Given the description of an element on the screen output the (x, y) to click on. 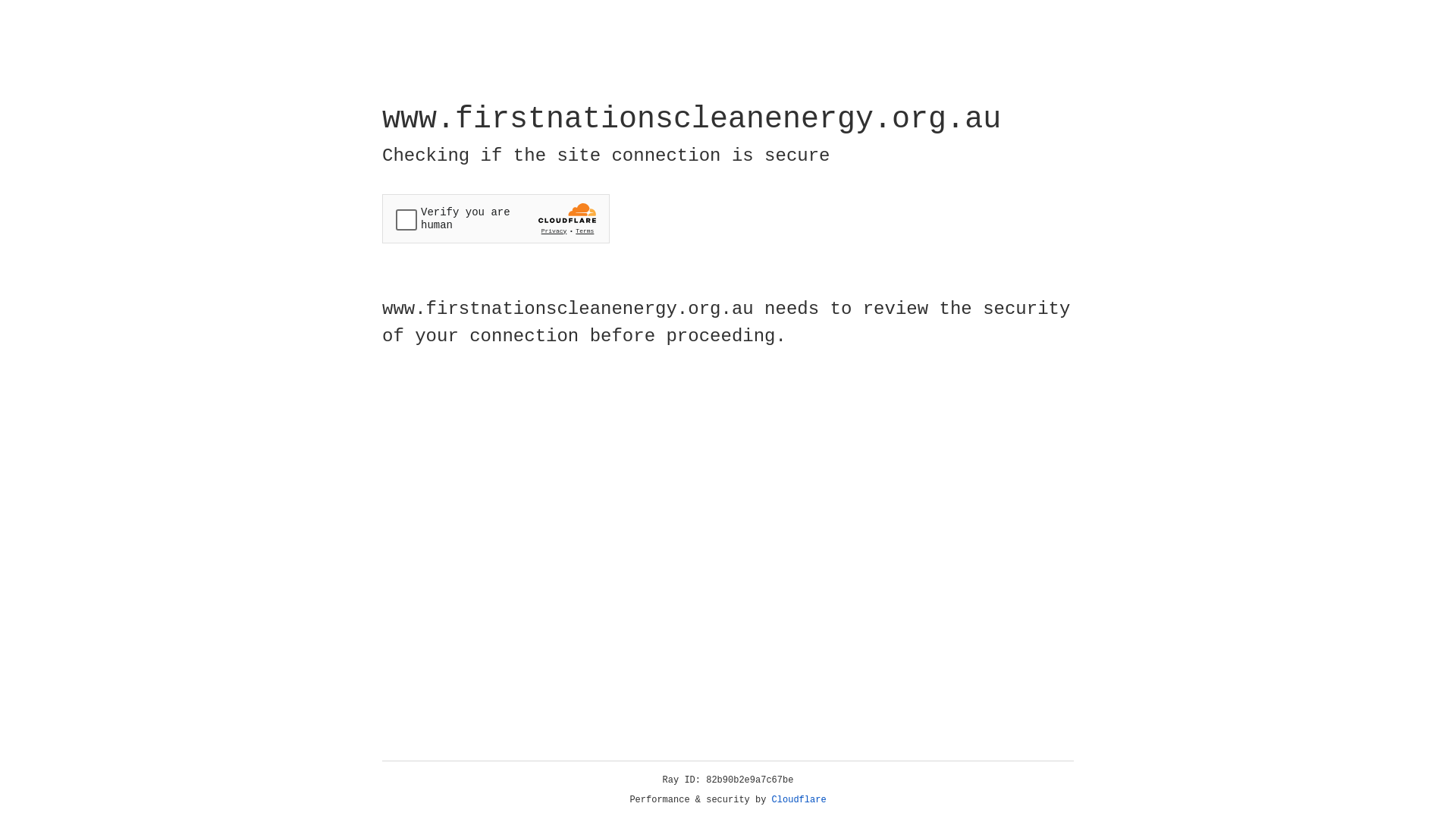
Widget containing a Cloudflare security challenge Element type: hover (495, 218)
Cloudflare Element type: text (798, 799)
